Given the description of an element on the screen output the (x, y) to click on. 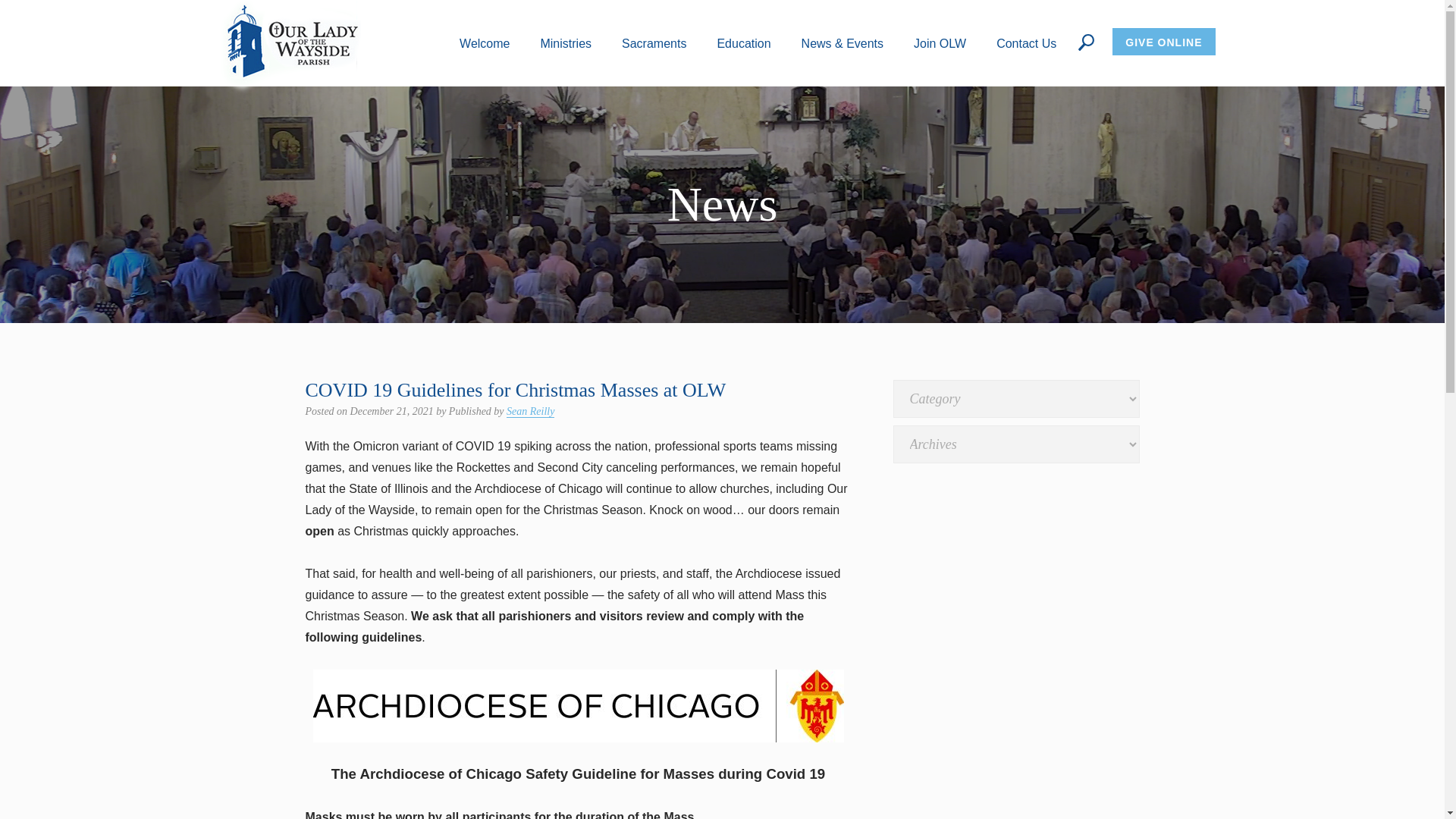
Welcome (484, 42)
GIVE ONLINE (1163, 41)
Join OLW (940, 42)
Education (743, 42)
Ministries (565, 42)
Contact Us (1026, 42)
Posts by Sean Reilly (530, 411)
Sacraments (653, 42)
